Given the description of an element on the screen output the (x, y) to click on. 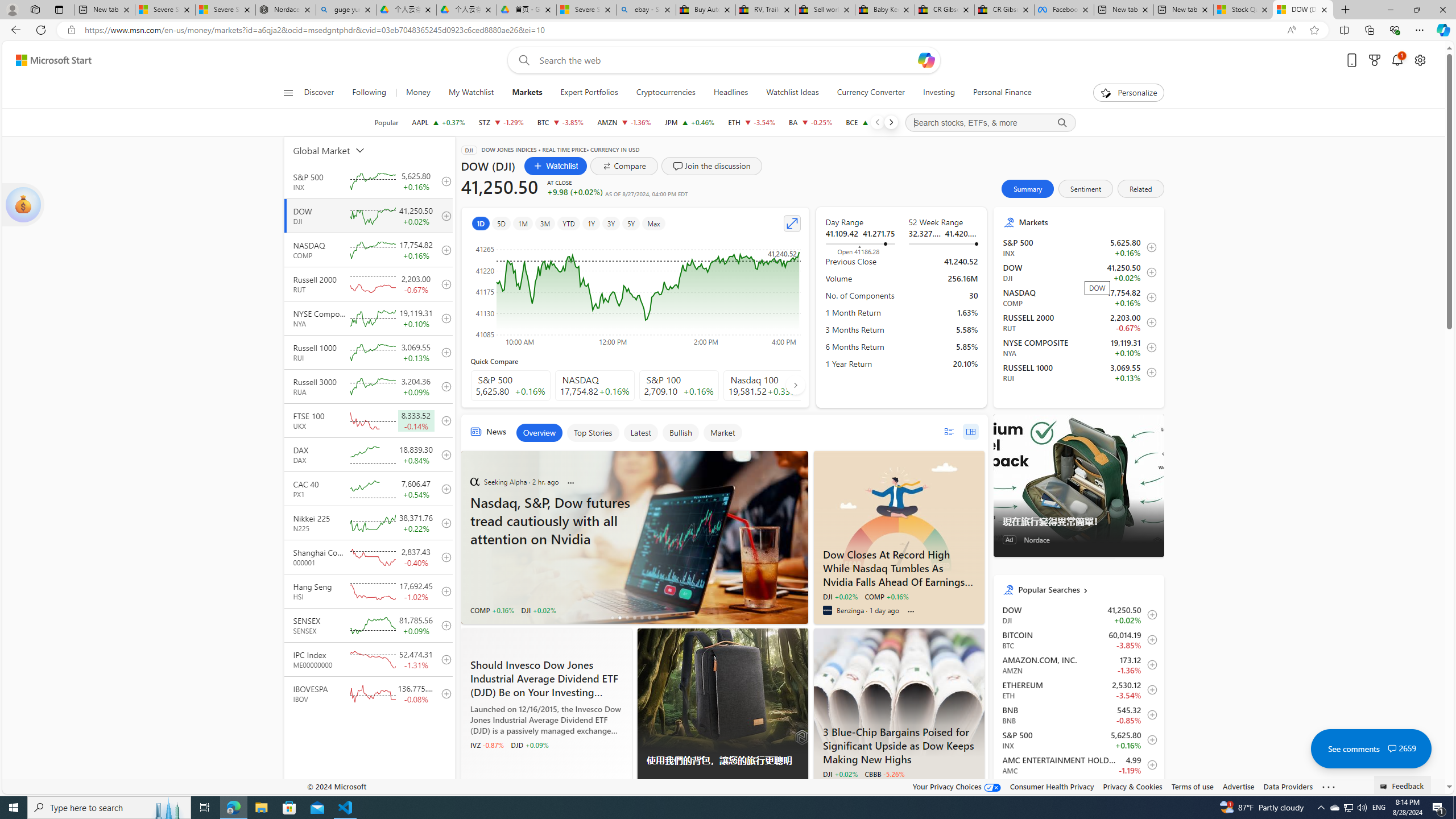
Data Providers (1288, 785)
Expert Portfolios (589, 92)
show card (22, 204)
Watchlist Ideas (792, 92)
